Given the description of an element on the screen output the (x, y) to click on. 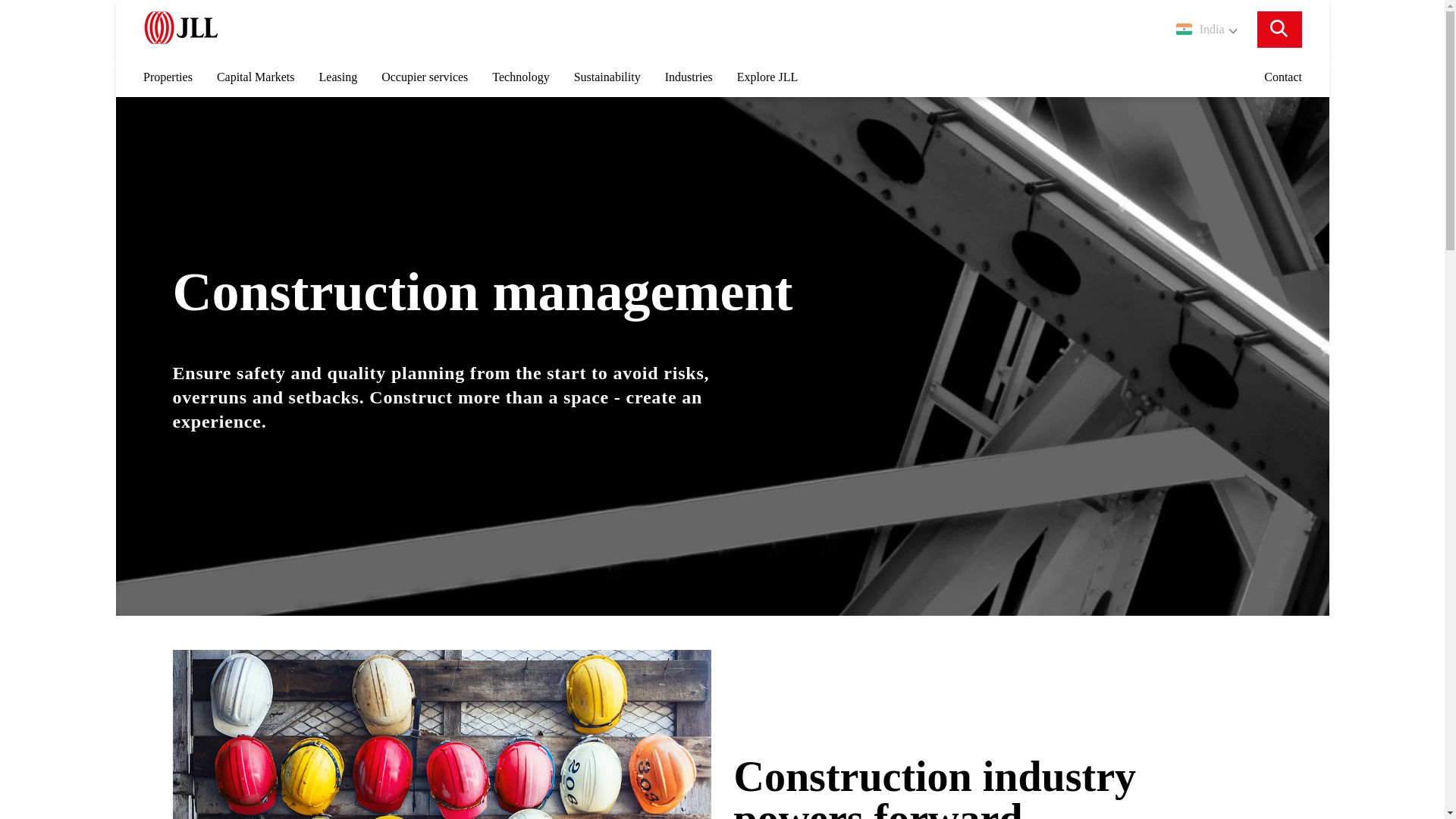
India (1206, 29)
